Given the description of an element on the screen output the (x, y) to click on. 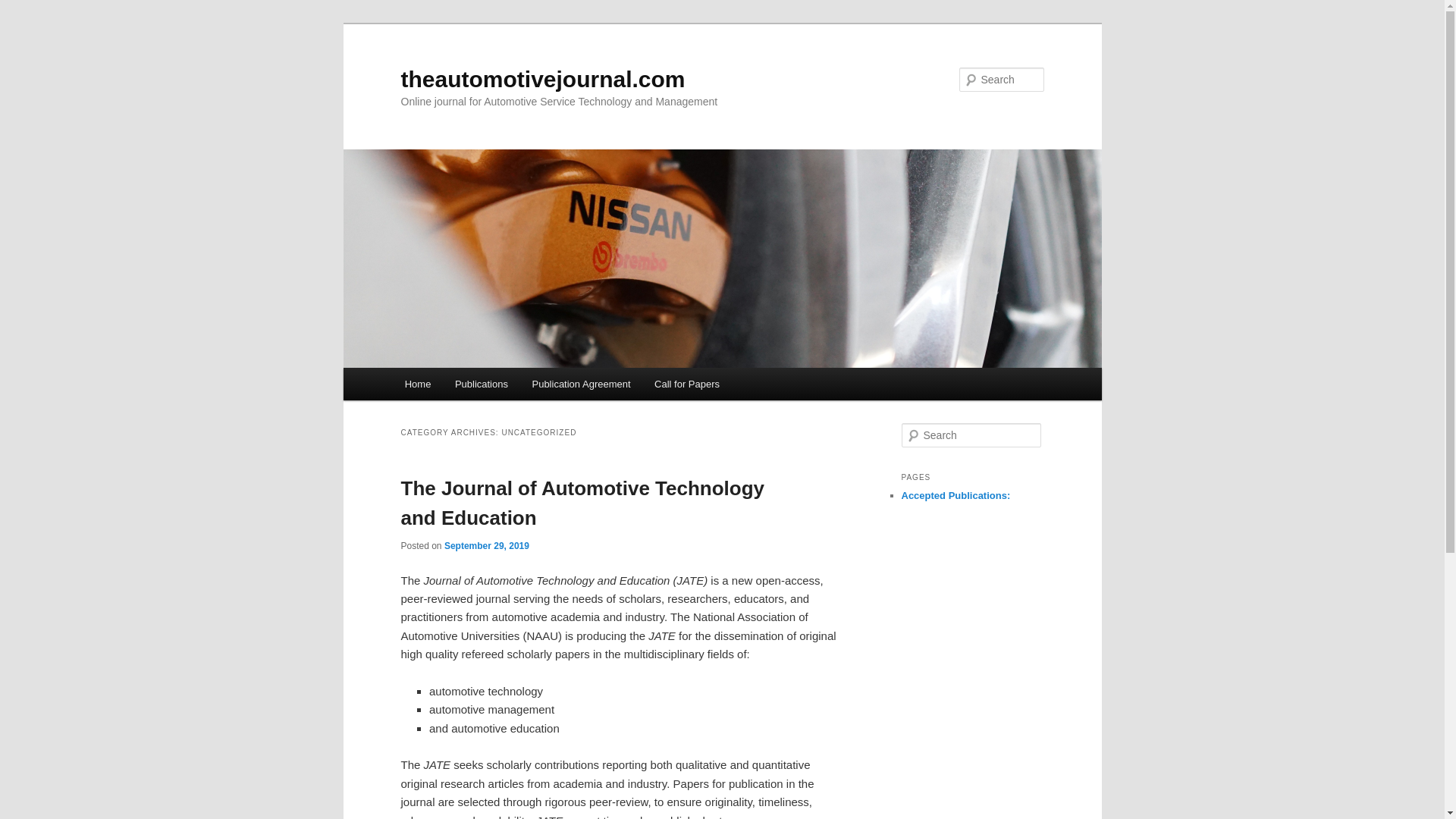
The Journal of Automotive Technology and Education (582, 502)
Search (24, 8)
theautomotivejournal.com (542, 78)
Search (21, 11)
Call for Papers (686, 383)
5:50 am (486, 545)
September 29, 2019 (486, 545)
Publication Agreement (581, 383)
Home (417, 383)
Publications (480, 383)
Accepted Publications: (955, 495)
